Given the description of an element on the screen output the (x, y) to click on. 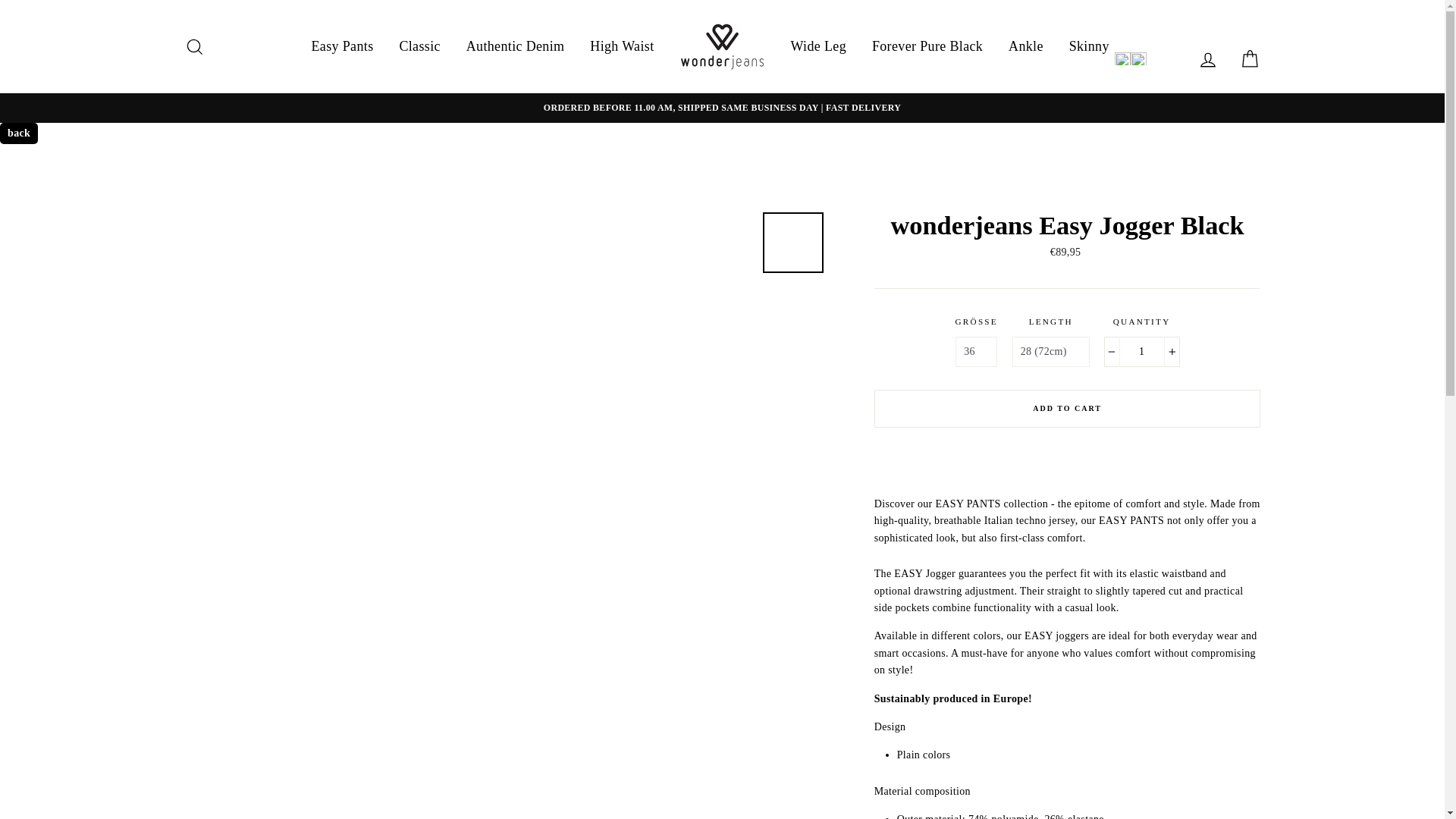
Classic (419, 46)
Search (194, 46)
Log in (1207, 58)
Authentic Denim (515, 46)
1 (1141, 351)
Cart (1249, 58)
High Waist (621, 46)
Forever Pure Black (927, 46)
Ankle (1025, 46)
Easy Pants (342, 46)
